Given the description of an element on the screen output the (x, y) to click on. 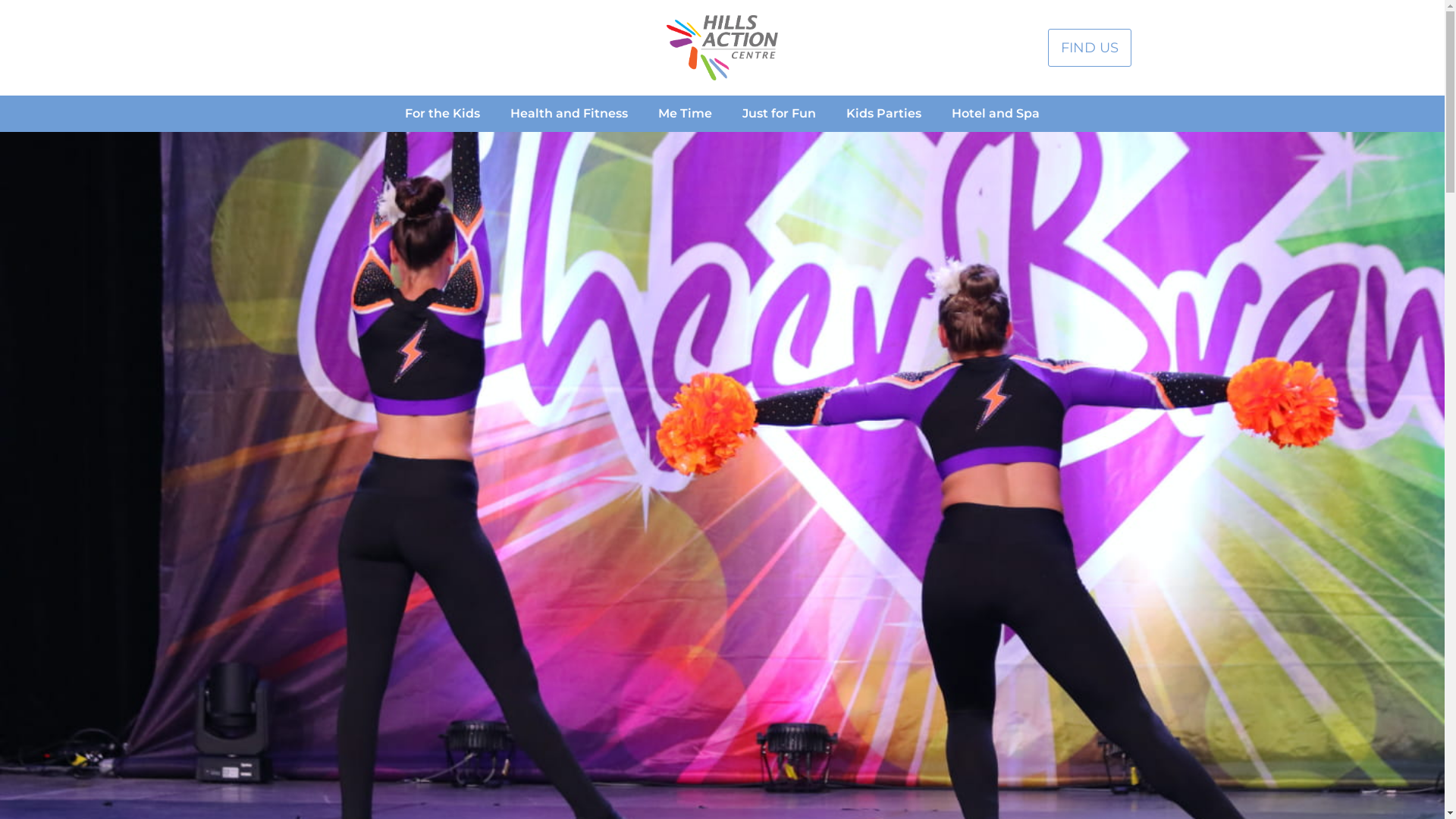
Health and Fitness Element type: text (569, 113)
Hotel and Spa Element type: text (995, 113)
FIND US Element type: text (1089, 47)
For the Kids Element type: text (442, 113)
Just for Fun Element type: text (779, 113)
Me Time Element type: text (685, 113)
Kids Parties Element type: text (883, 113)
